Given the description of an element on the screen output the (x, y) to click on. 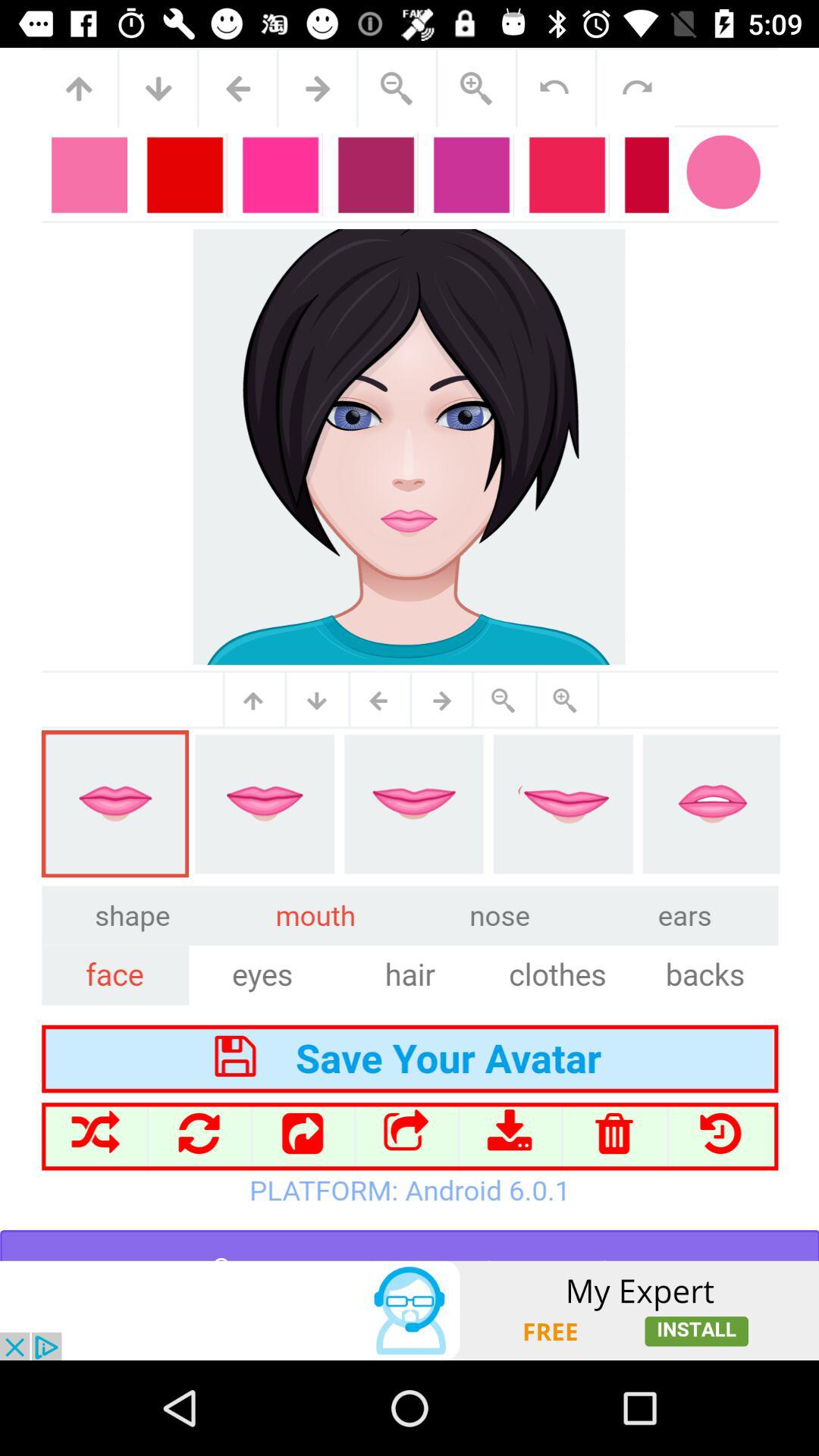
makeup (409, 653)
